Given the description of an element on the screen output the (x, y) to click on. 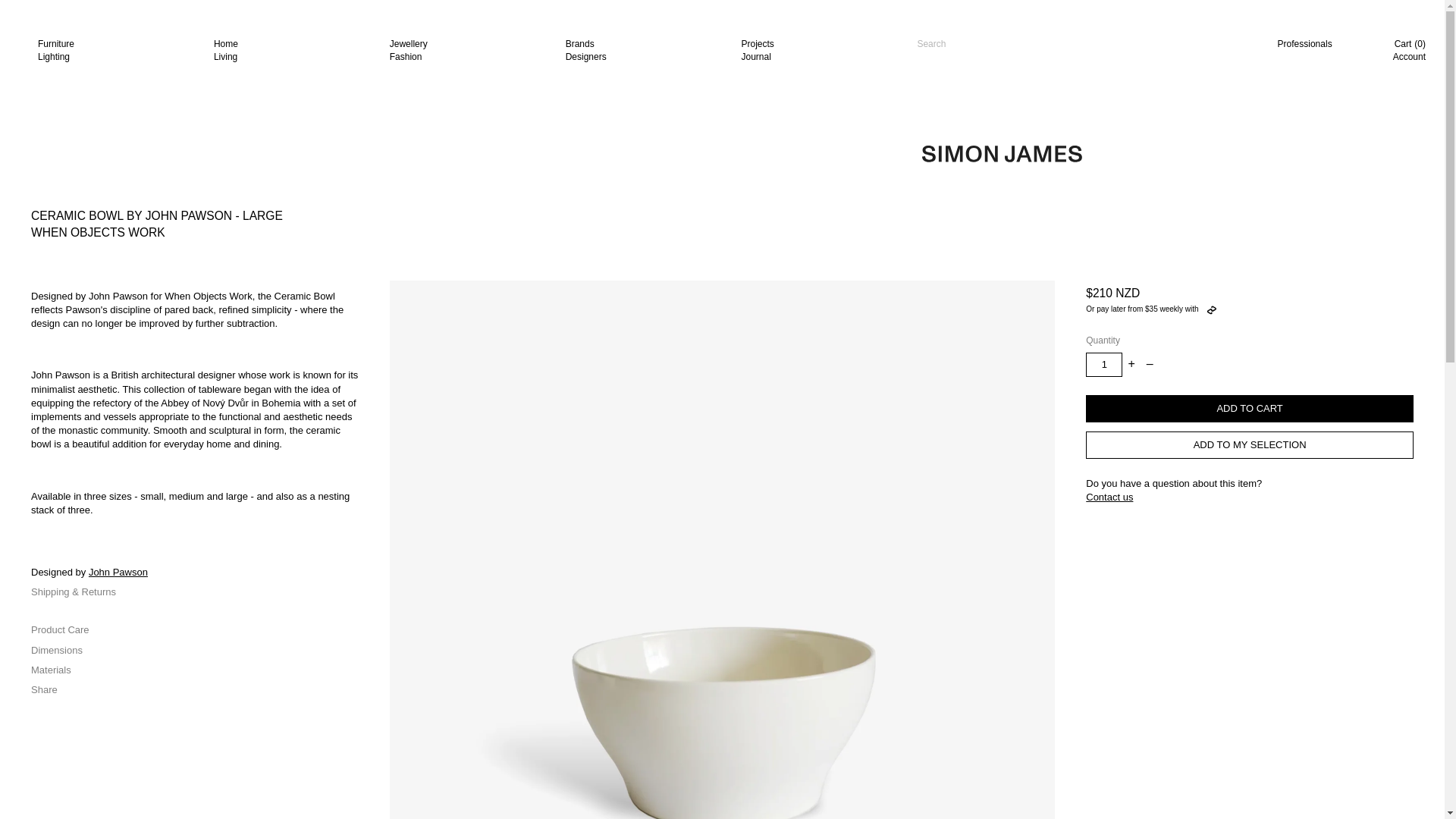
1 (644, 50)
Account (116, 50)
Professionals (292, 50)
